Given the description of an element on the screen output the (x, y) to click on. 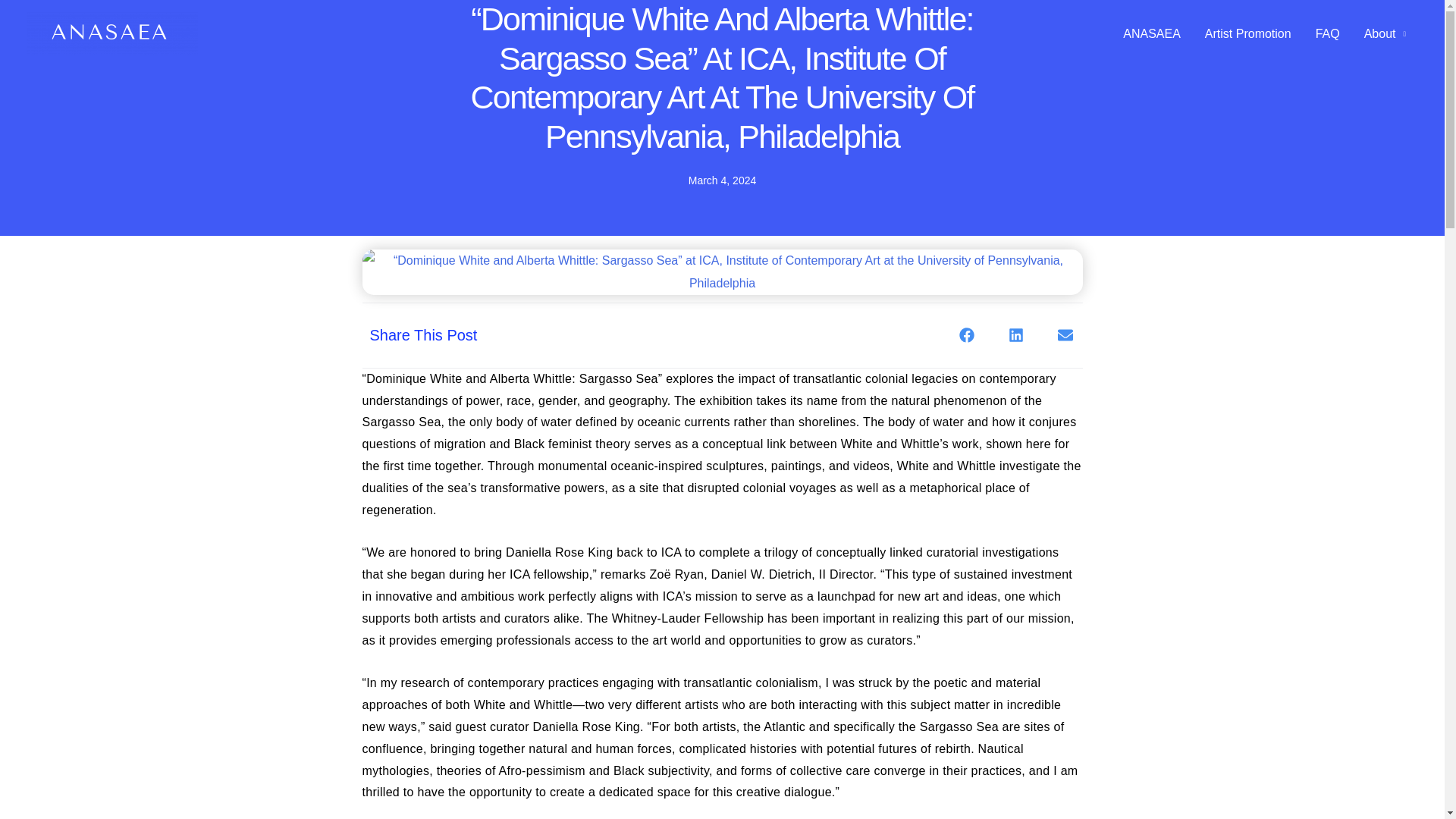
About (1385, 33)
Artist Promotion (1247, 33)
ANASAEA (1151, 33)
March 4, 2024 (722, 180)
